Given the description of an element on the screen output the (x, y) to click on. 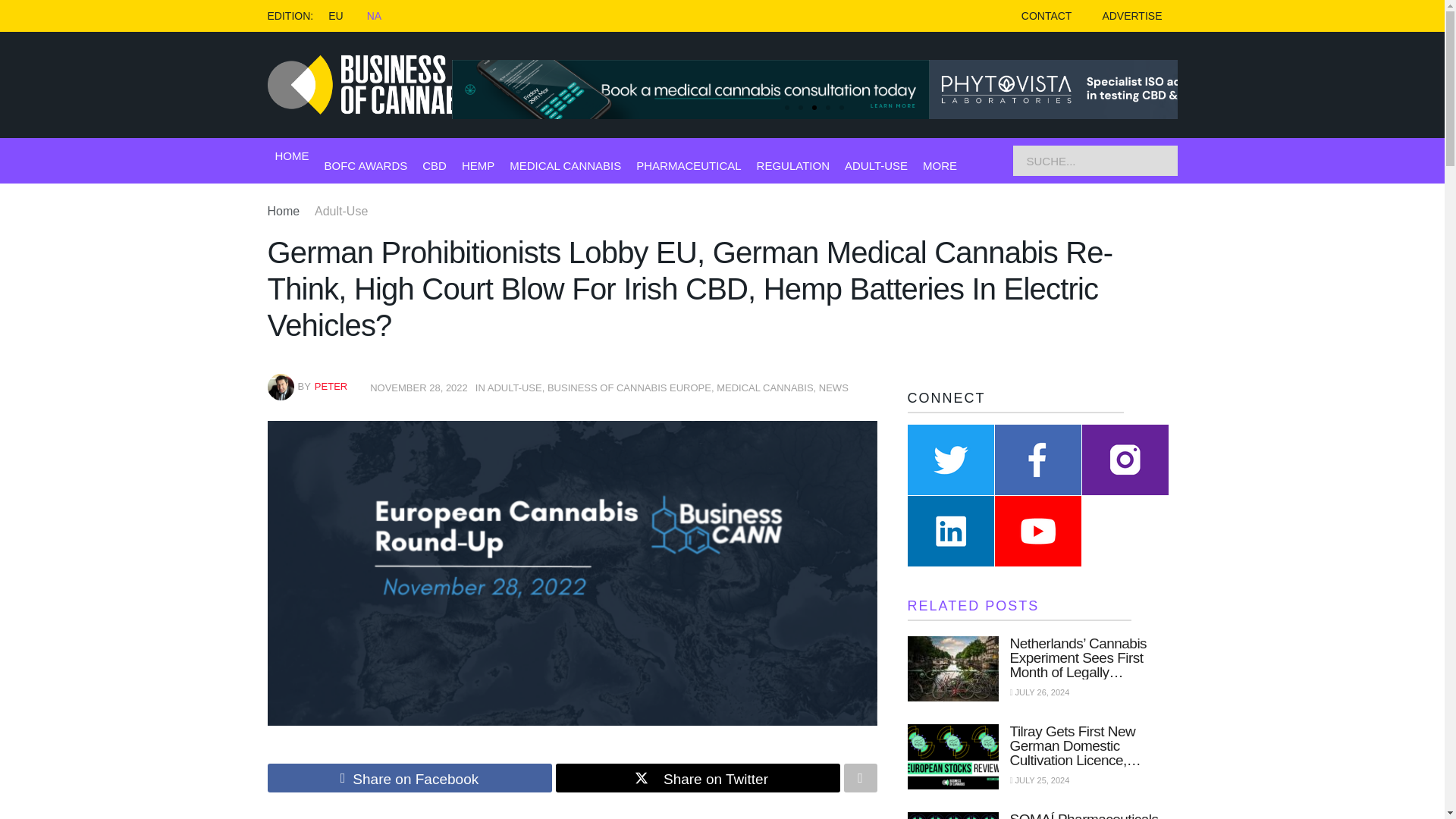
HOME (291, 156)
BOFC AWARDS (365, 165)
HEMP (478, 165)
CONTACT (1046, 15)
MEDICAL CANNABIS (565, 165)
MORE (939, 165)
ADULT-USE (875, 165)
ADVERTISE (1131, 15)
REGULATION (793, 165)
CBD (434, 165)
PHARMACEUTICAL (688, 165)
